Given the description of an element on the screen output the (x, y) to click on. 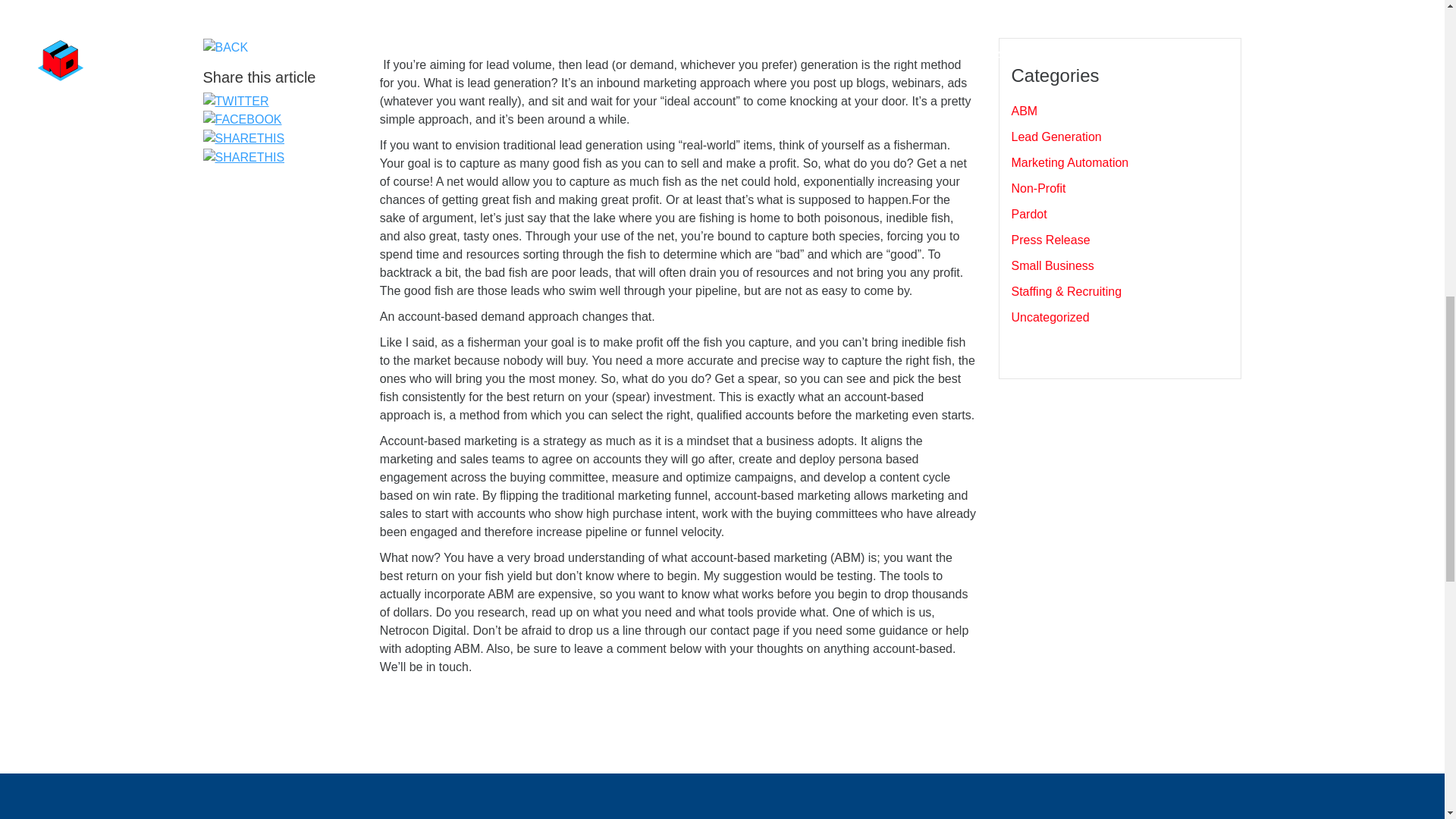
Press Release (1049, 239)
Non-Profit (1037, 187)
Pardot (1028, 214)
Marketing Automation (1069, 162)
Lead Generation (1055, 136)
ABM (1023, 110)
Small Business (1051, 265)
Uncategorized (1049, 317)
